Given the description of an element on the screen output the (x, y) to click on. 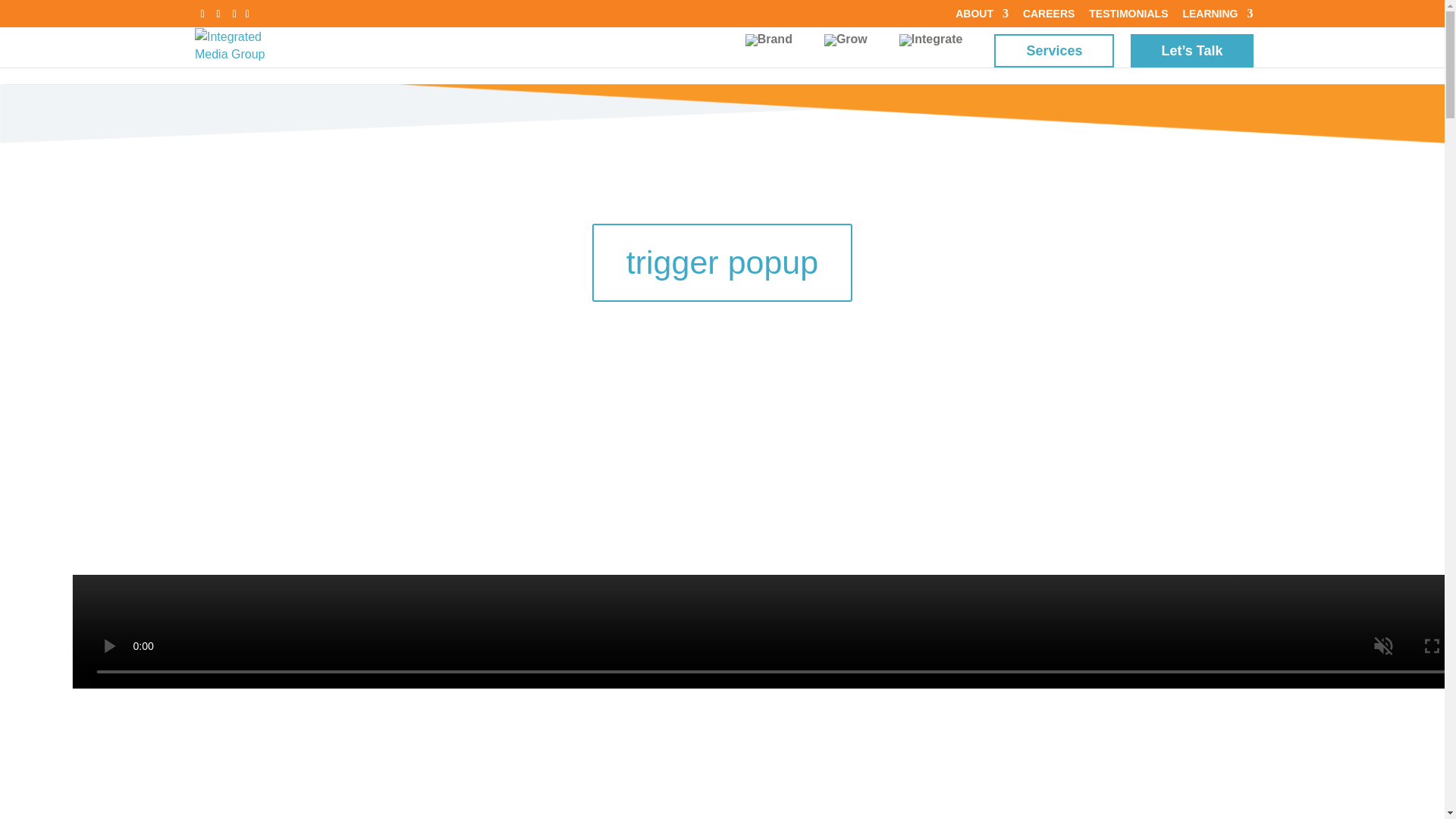
LEARNING (1217, 16)
Services (1053, 50)
ABOUT (982, 16)
TESTIMONIALS (1128, 16)
CAREERS (1048, 16)
